Given the description of an element on the screen output the (x, y) to click on. 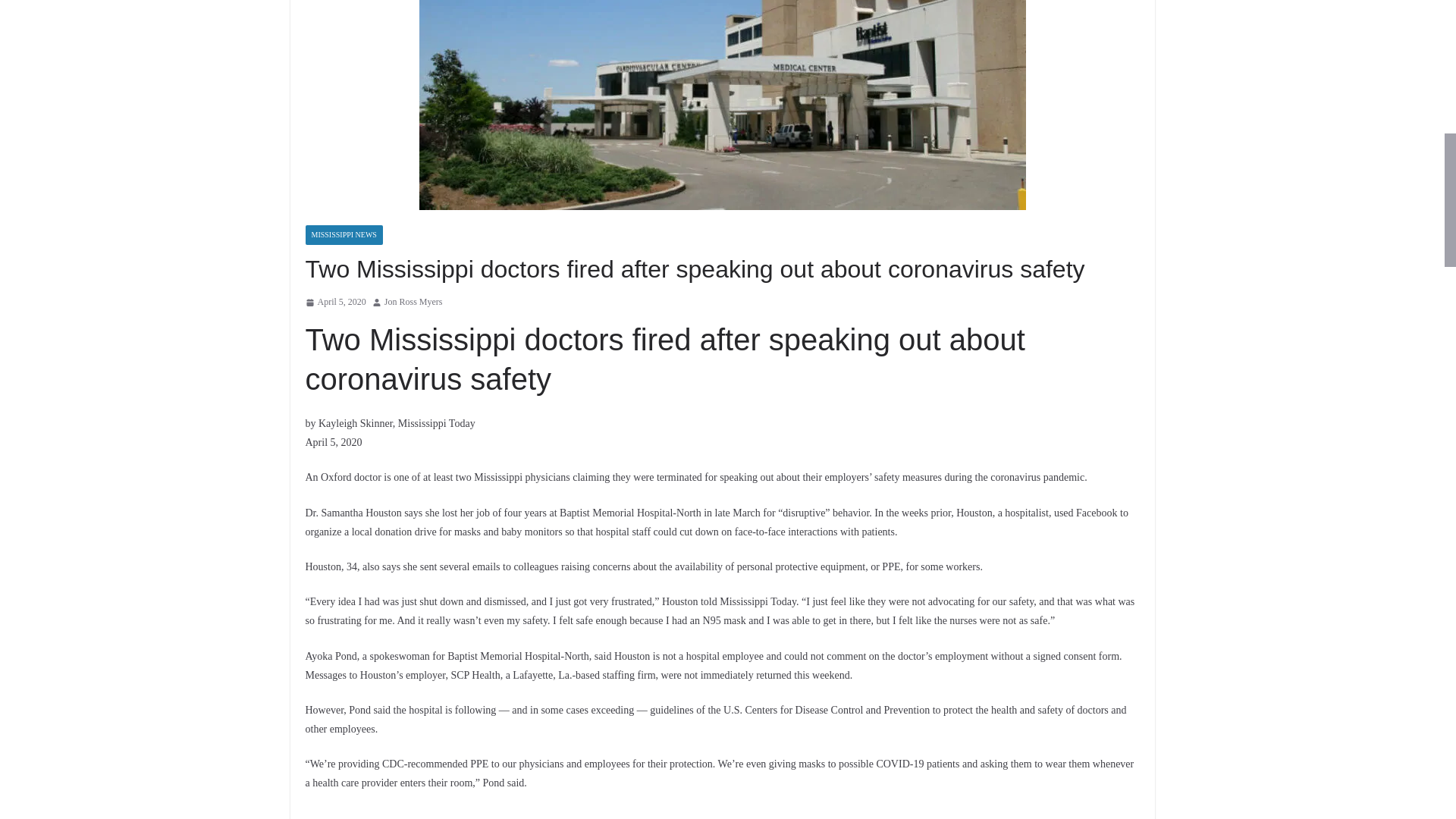
Jon Ross Myers (413, 302)
MISSISSIPPI NEWS (342, 234)
6:42 pm (334, 302)
Jon Ross Myers (413, 302)
April 5, 2020 (334, 302)
